Given the description of an element on the screen output the (x, y) to click on. 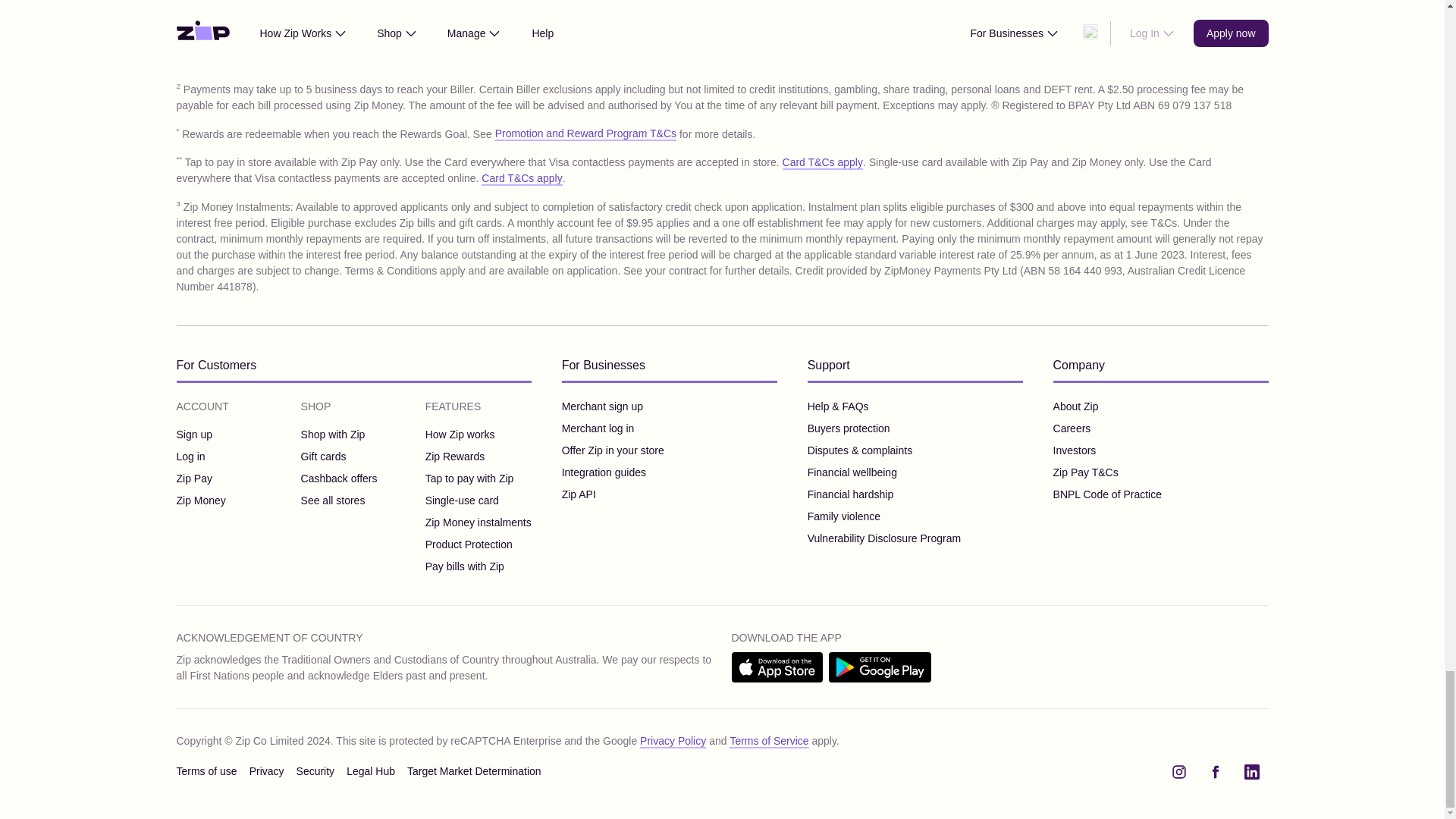
Cashback offers (339, 478)
Log in (200, 456)
Zip Pay (200, 478)
Gift cards (339, 456)
Product Protection (478, 544)
How Zip works (478, 434)
Zip Rewards (478, 456)
Zip Money (200, 500)
Shop with Zip (339, 434)
Zip Money instalments (478, 522)
See all stores (339, 500)
Single-use card (478, 500)
Tap to pay with Zip (478, 478)
Sign up (200, 434)
